Given the description of an element on the screen output the (x, y) to click on. 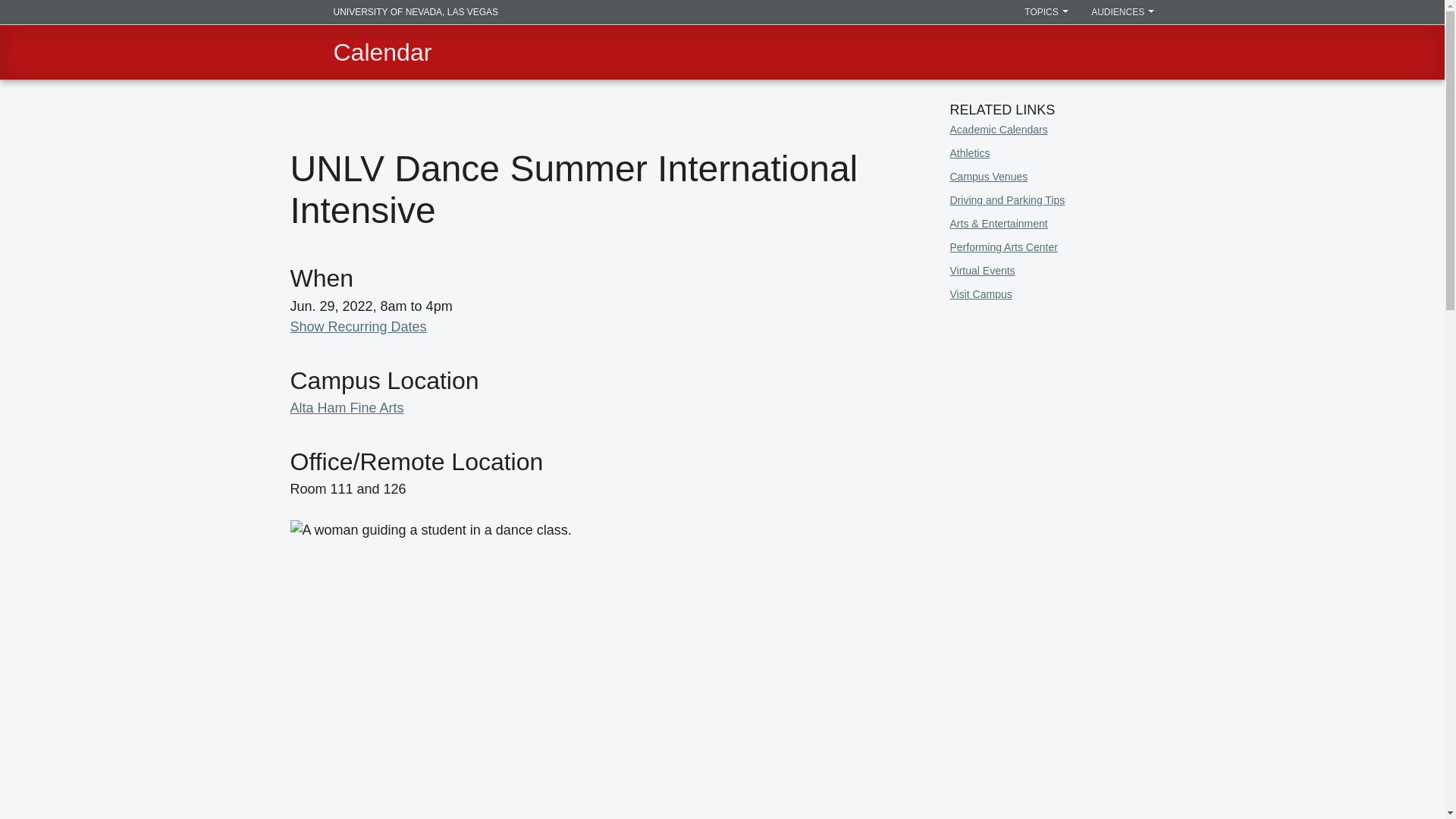
TOPICS (1046, 12)
AUDIENCES (1123, 12)
Calendar (382, 51)
UNIVERSITY OF NEVADA, LAS VEGAS (395, 11)
Find (1139, 52)
